Given the description of an element on the screen output the (x, y) to click on. 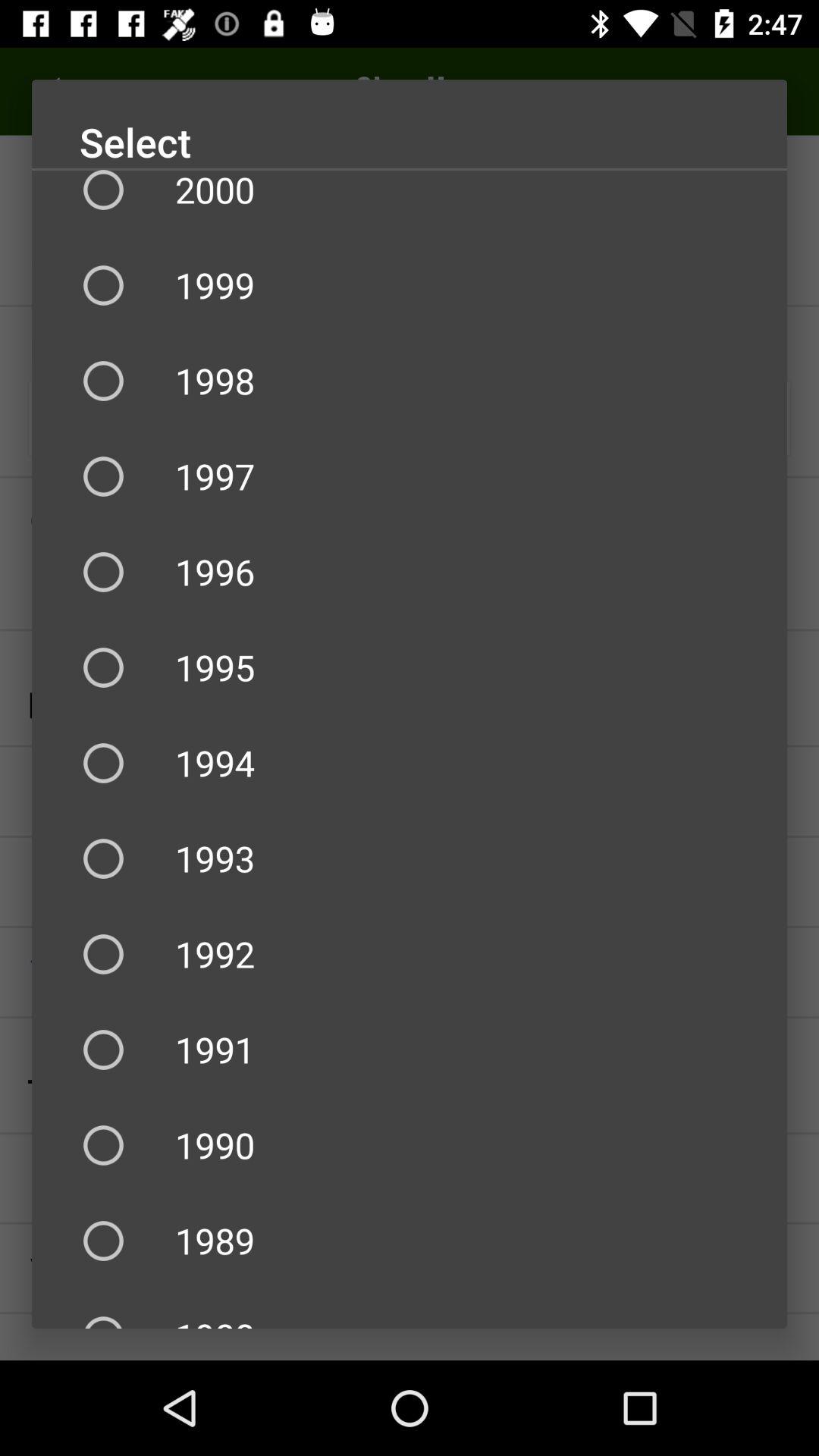
launch item below 1992 item (409, 1049)
